Given the description of an element on the screen output the (x, y) to click on. 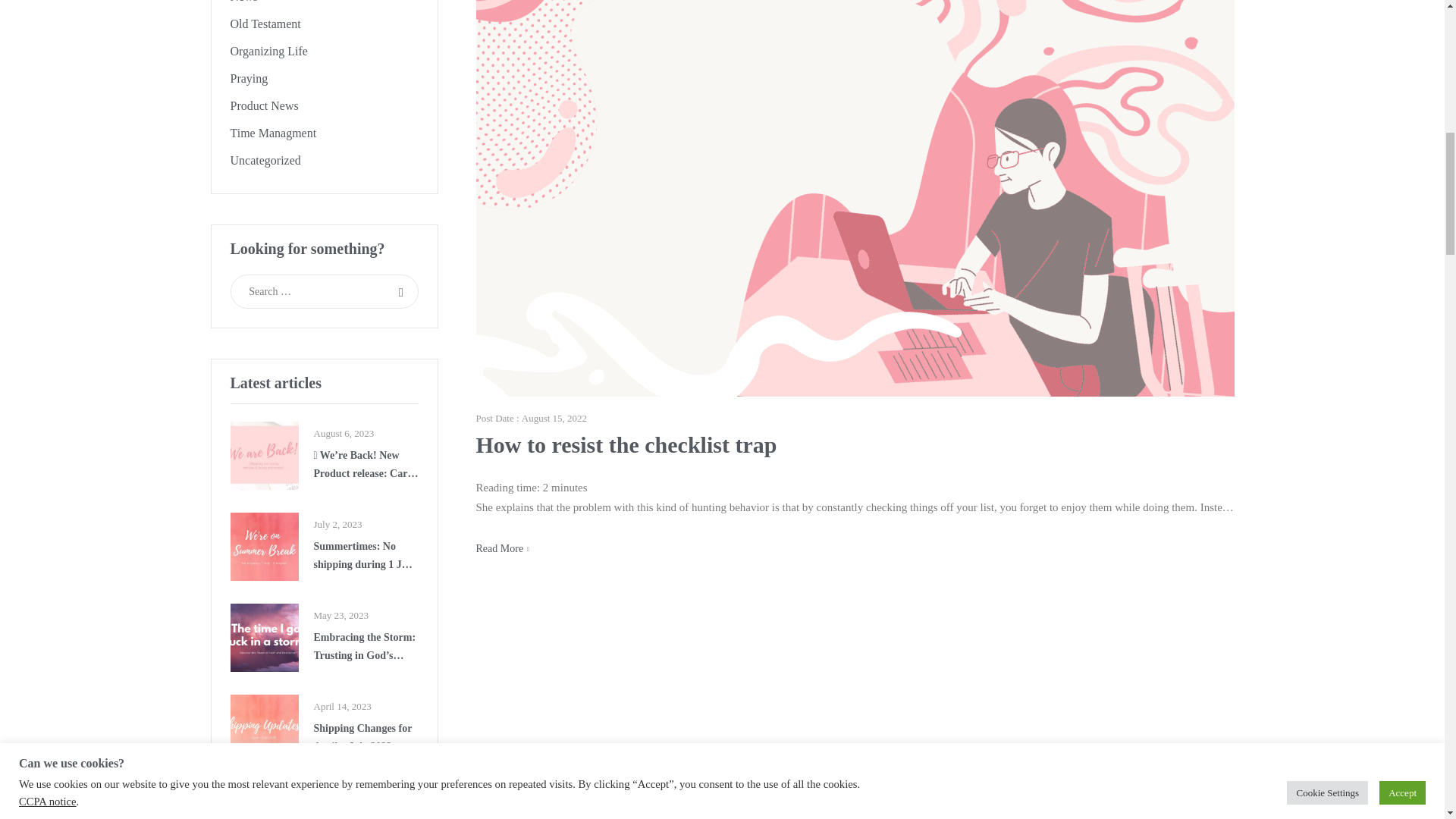
Search (402, 291)
Search (402, 291)
